Given the description of an element on the screen output the (x, y) to click on. 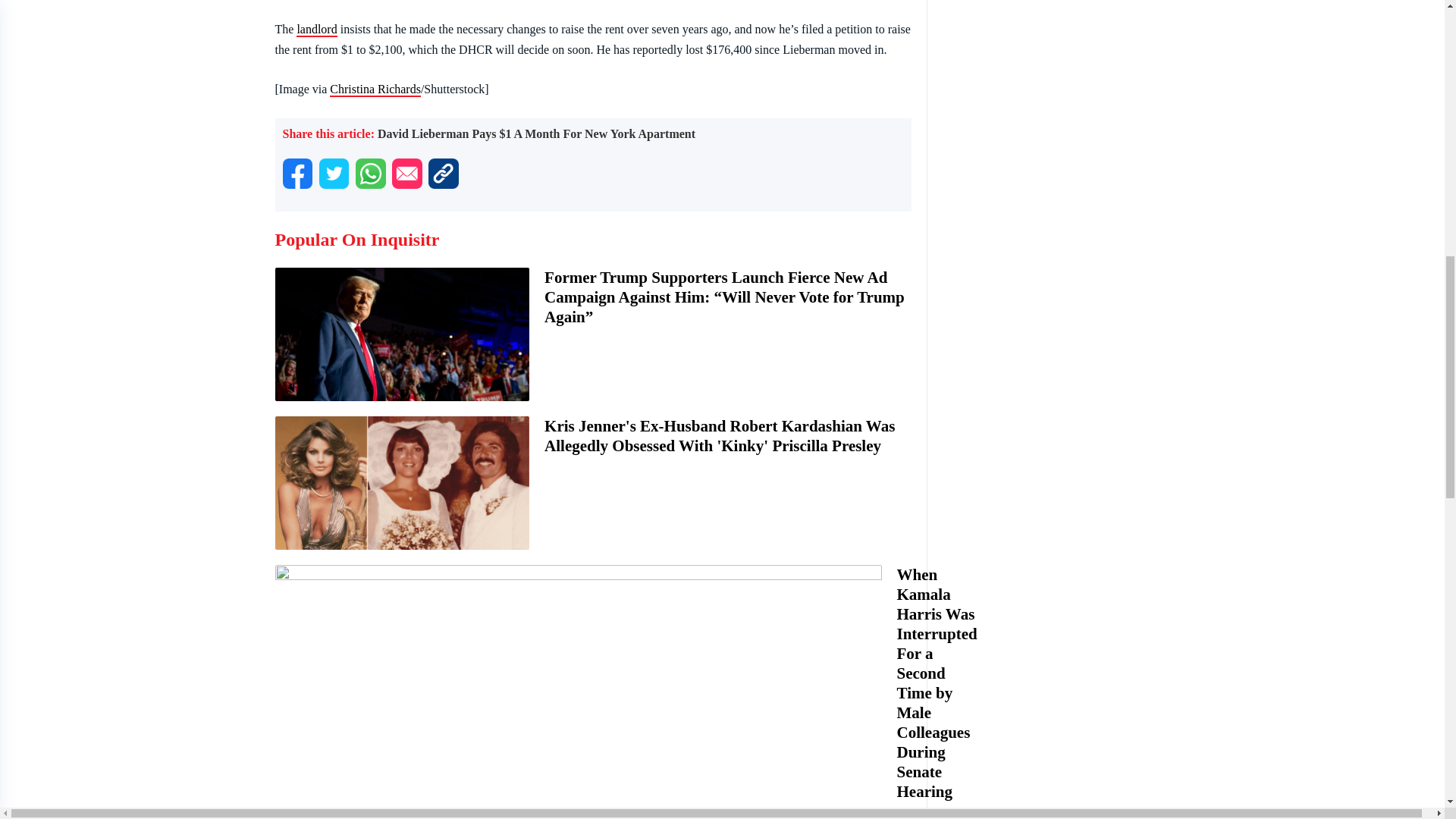
Inquisitr (316, 29)
